Given the description of an element on the screen output the (x, y) to click on. 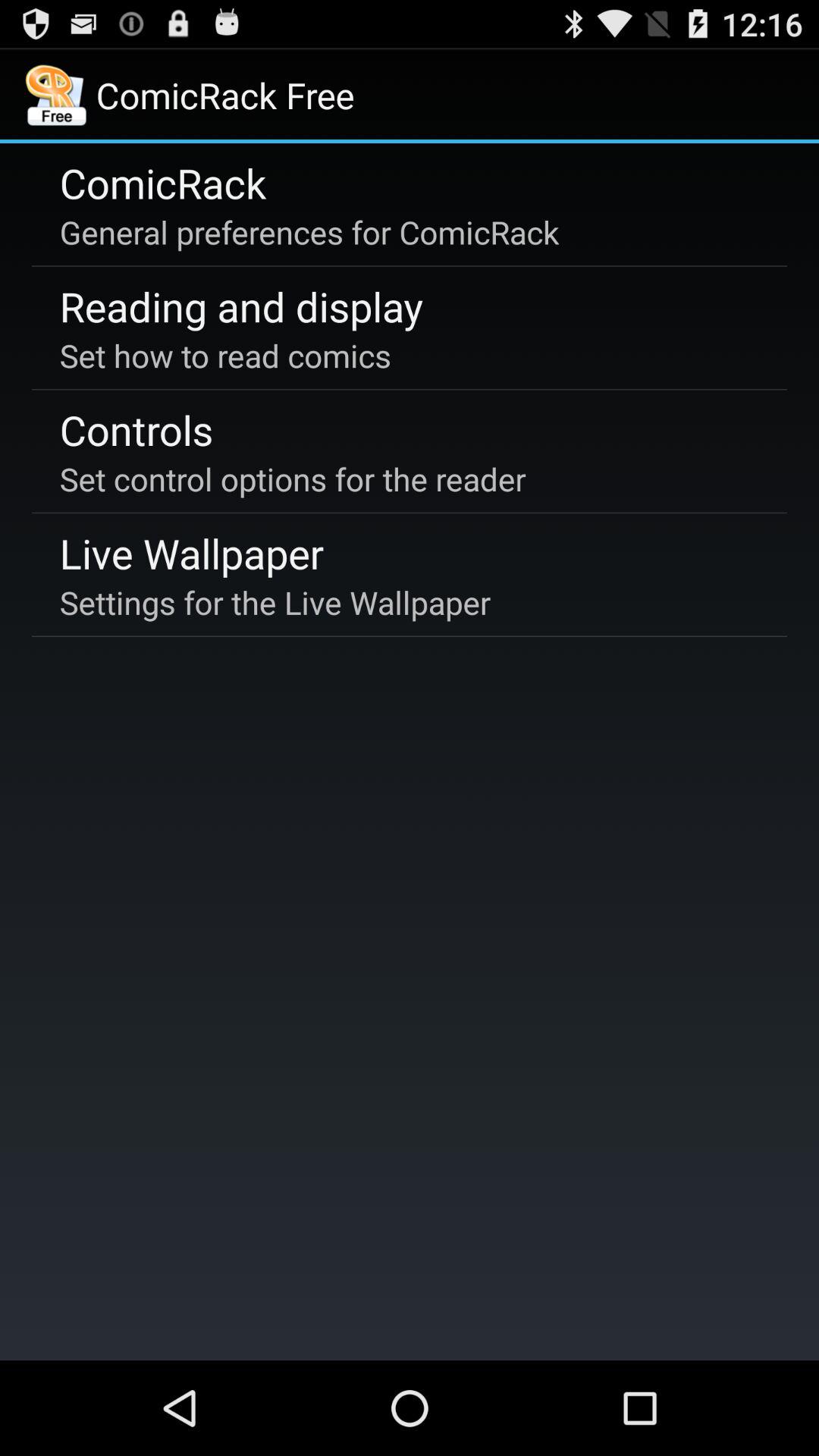
scroll to the controls (136, 429)
